Given the description of an element on the screen output the (x, y) to click on. 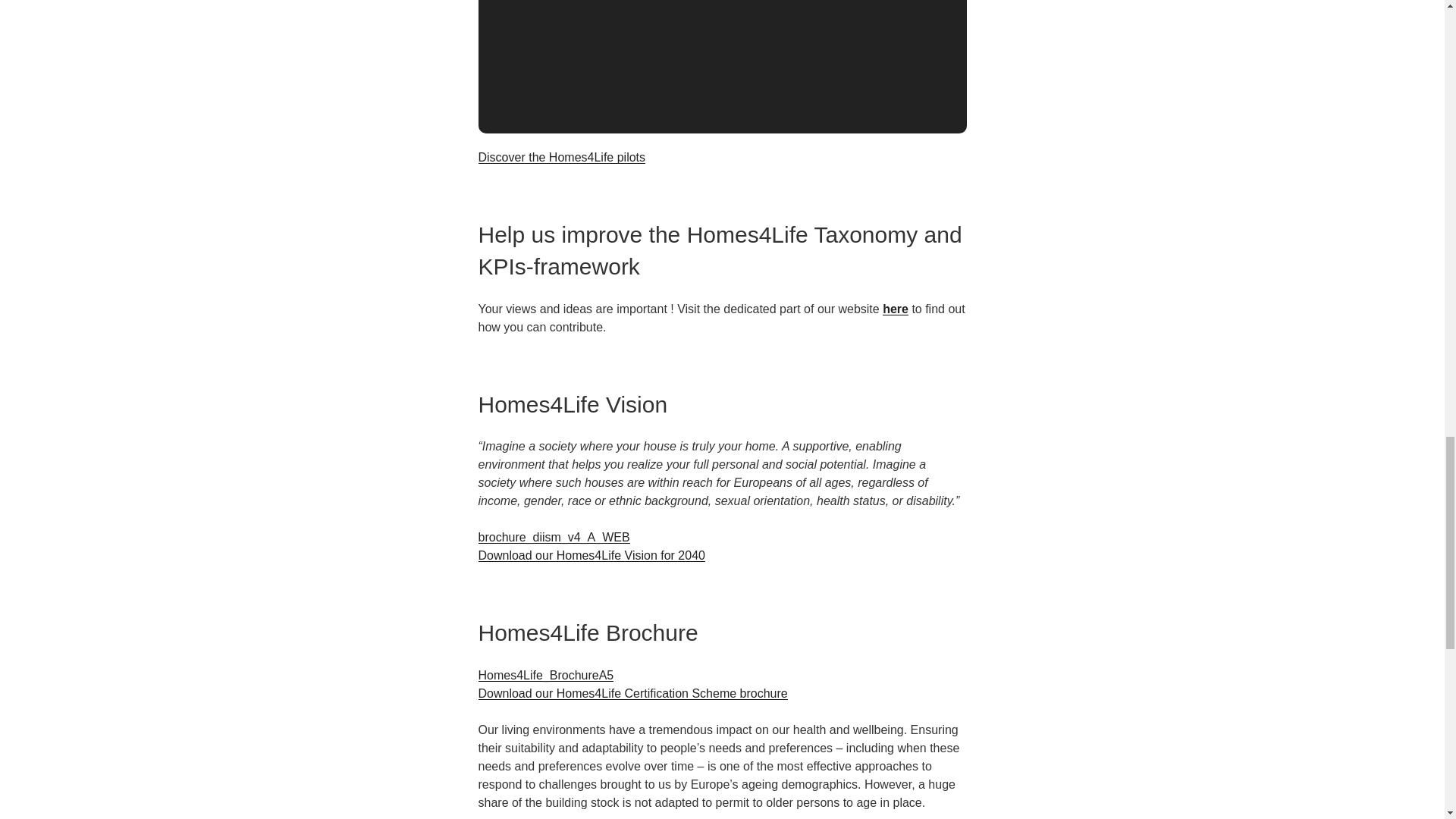
Download our Homes4Life Vision for 2040 (590, 554)
Discover the Homes4Life pilots (561, 156)
Download our Homes4Life Certification Scheme brochure (632, 693)
here (895, 308)
